Given the description of an element on the screen output the (x, y) to click on. 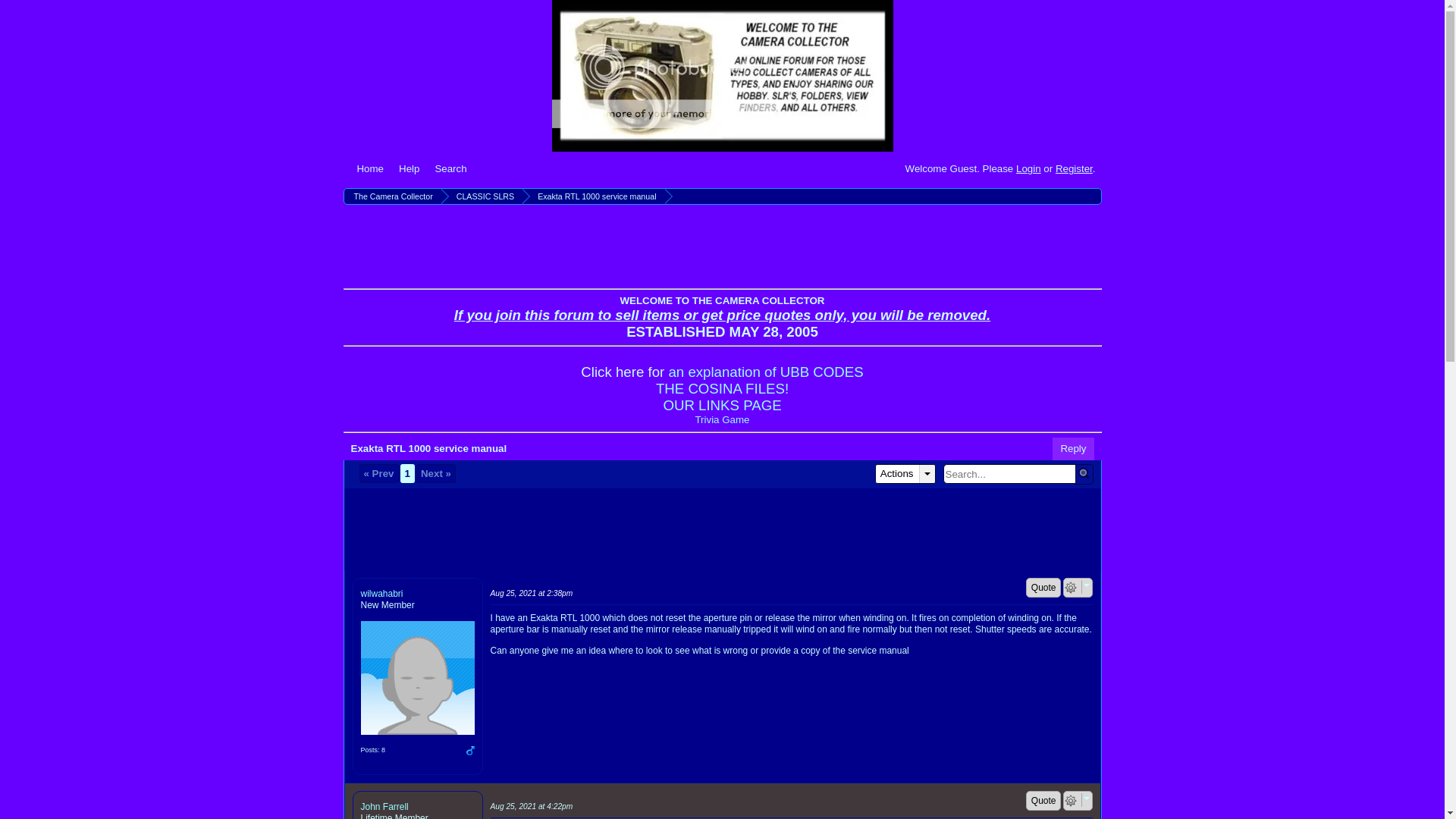
Home (370, 168)
The Camera Collector (391, 196)
Post Options (1070, 800)
Login (1028, 168)
The Camera Collector (722, 75)
Male (469, 750)
Post Options (1070, 587)
Exakta RTL 1000 service manual (594, 196)
Search (450, 168)
CLASSIC SLRS (483, 196)
Register (1074, 168)
wilwahabri (417, 677)
Help (408, 168)
